Given the description of an element on the screen output the (x, y) to click on. 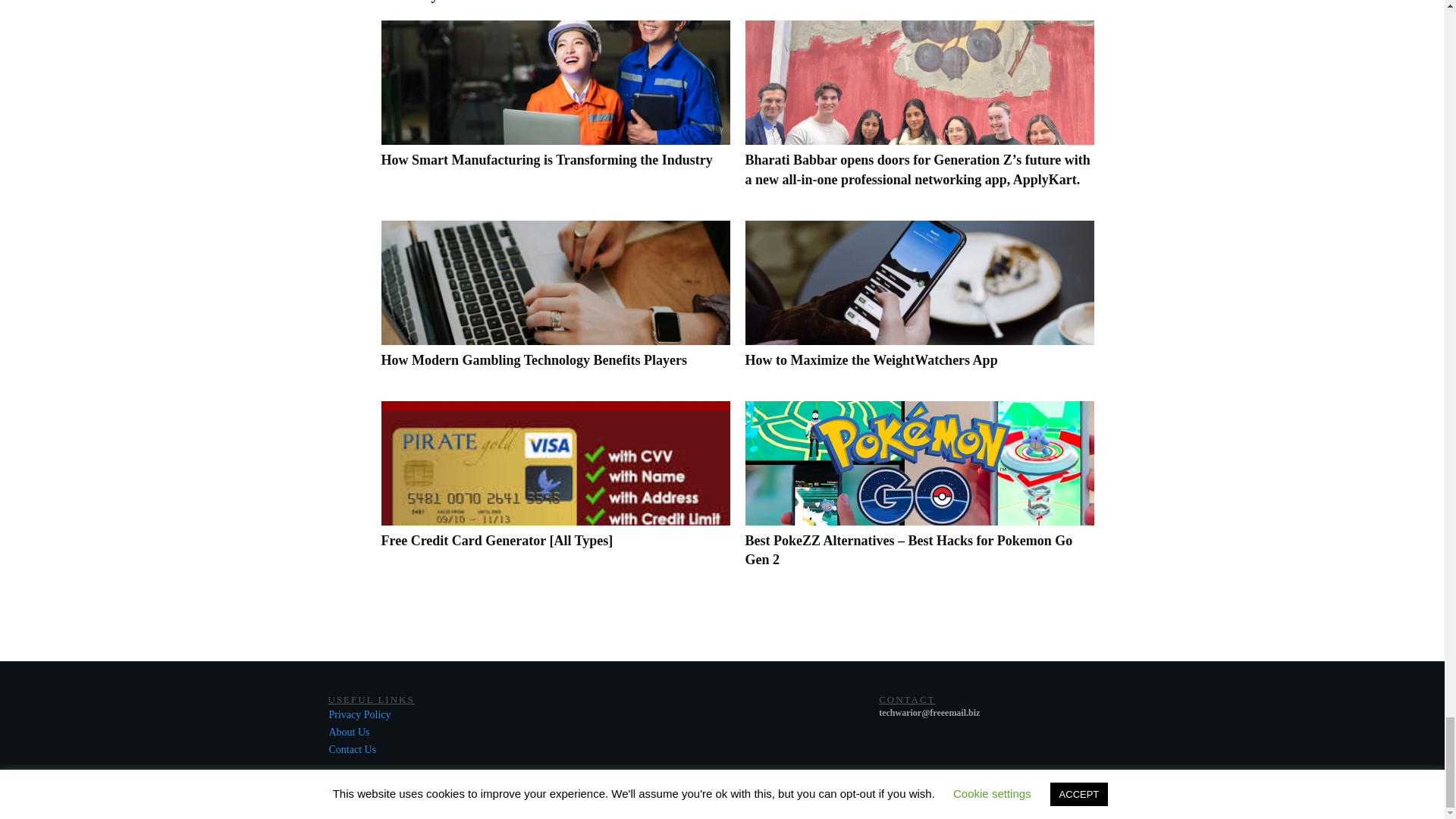
How to Maximize the WeightWatchers App (870, 359)
How Smart Manufacturing is Transforming the Industry (554, 111)
About Us (349, 731)
How Smart Manufacturing is Transforming the Industry (545, 159)
How to Maximize the WeightWatchers App (918, 302)
Contact Us (353, 749)
How Smart Manufacturing is Transforming the Industry (545, 159)
How Modern Gambling Technology Benefits Players (554, 302)
How to Maximize the WeightWatchers App (870, 359)
How Modern Gambling Technology Benefits Players (533, 359)
How Modern Gambling Technology Benefits Players (533, 359)
Privacy Policy (360, 714)
